Given the description of an element on the screen output the (x, y) to click on. 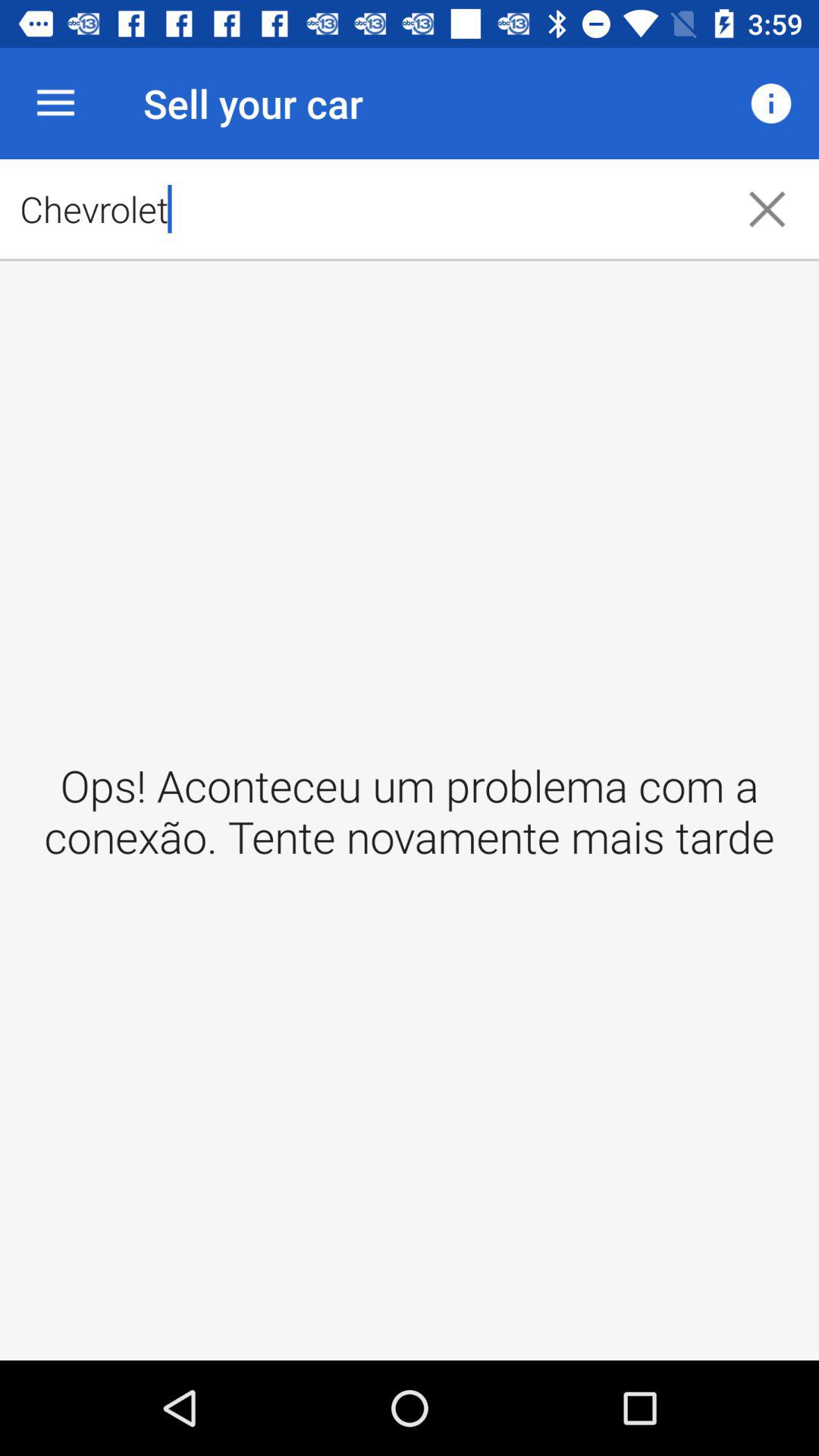
tap icon next to the chevrolet (767, 208)
